Given the description of an element on the screen output the (x, y) to click on. 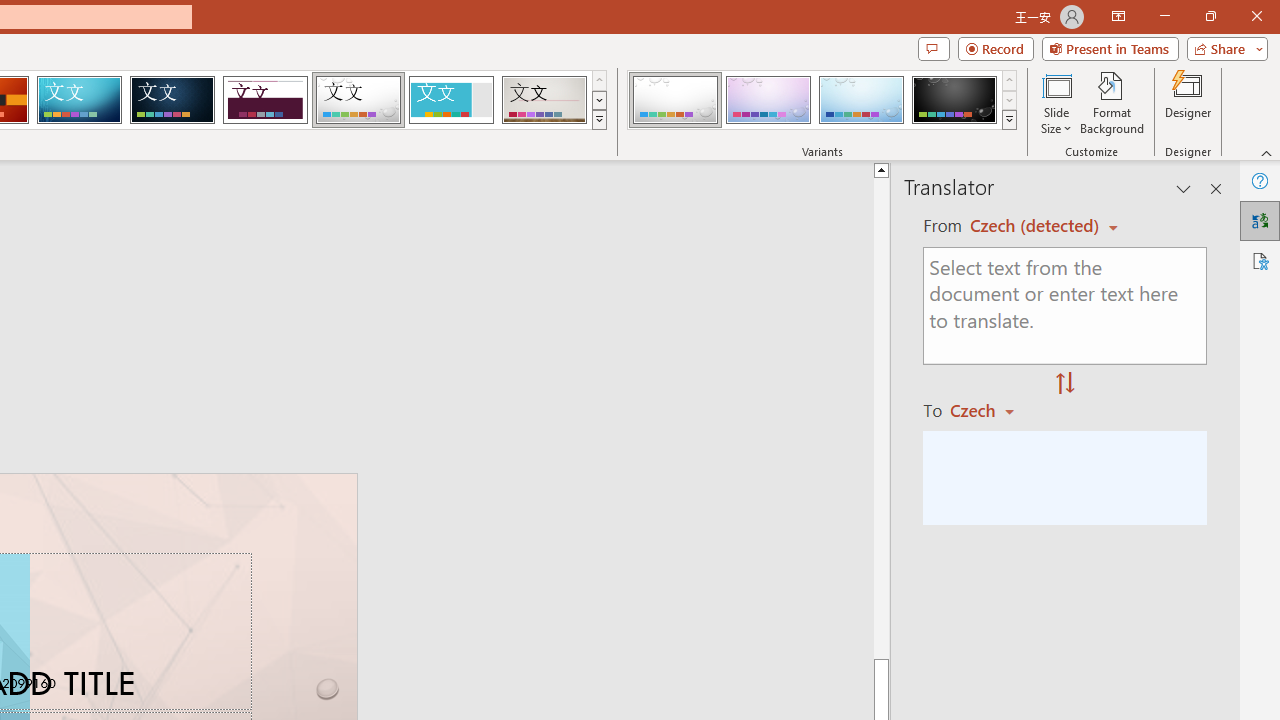
Format Background (1111, 102)
Droplet (358, 100)
Themes (598, 120)
Droplet Variant 1 (674, 100)
Czech (detected) (1037, 225)
Swap "from" and "to" languages. (1065, 383)
AutomationID: ThemeVariantsGallery (822, 99)
Droplet Variant 4 (953, 100)
